Given the description of an element on the screen output the (x, y) to click on. 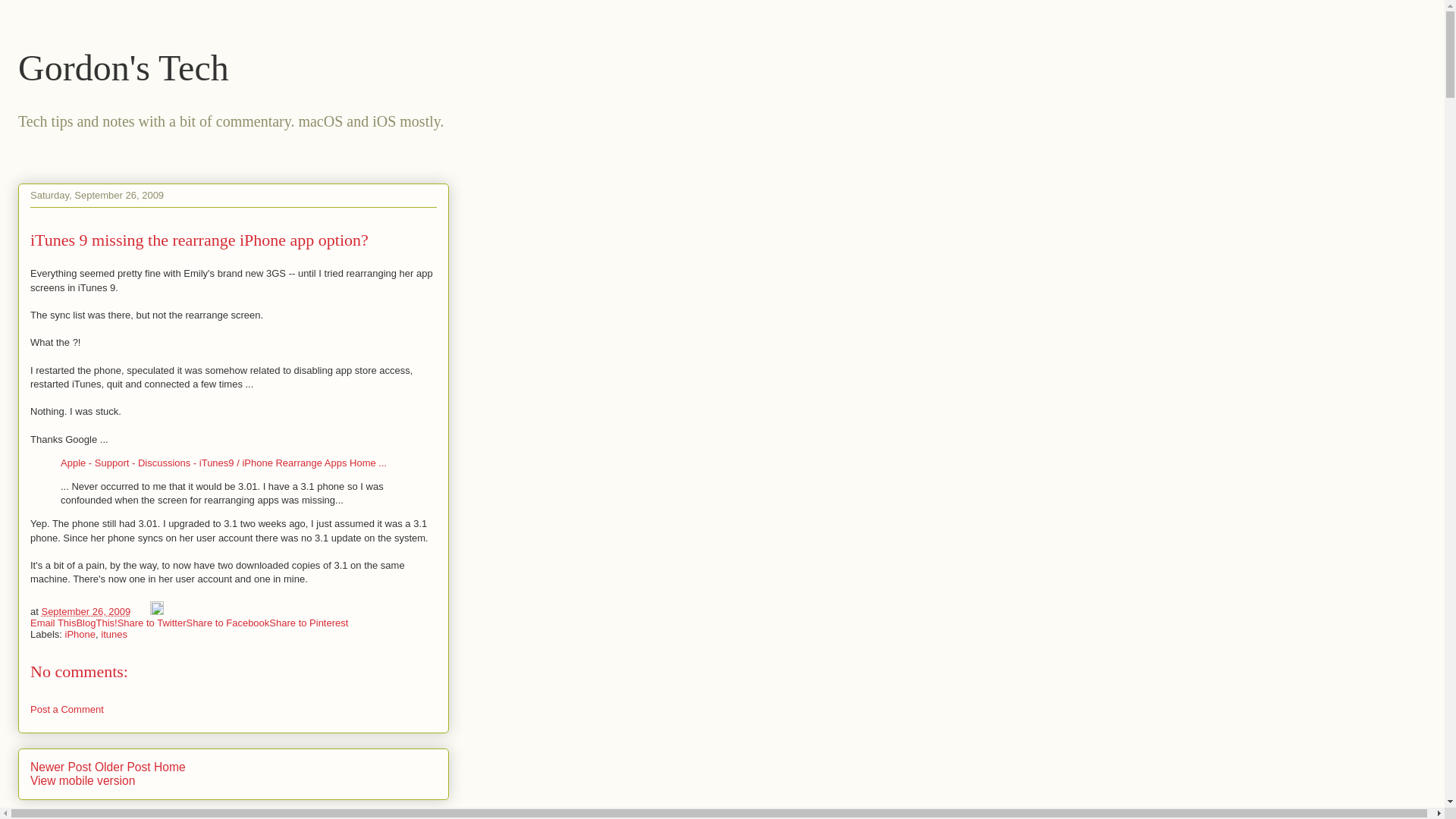
permanent link (85, 611)
BlogThis! (95, 622)
iPhone (80, 633)
itunes (114, 633)
Share to Facebook (227, 622)
Edit Post (156, 611)
Share to Twitter (151, 622)
Email This (52, 622)
Email This (52, 622)
Share to Facebook (227, 622)
Email Post (141, 611)
Share to Pinterest (308, 622)
Gordon's Tech (122, 67)
Home (170, 766)
Older Post (122, 766)
